Given the description of an element on the screen output the (x, y) to click on. 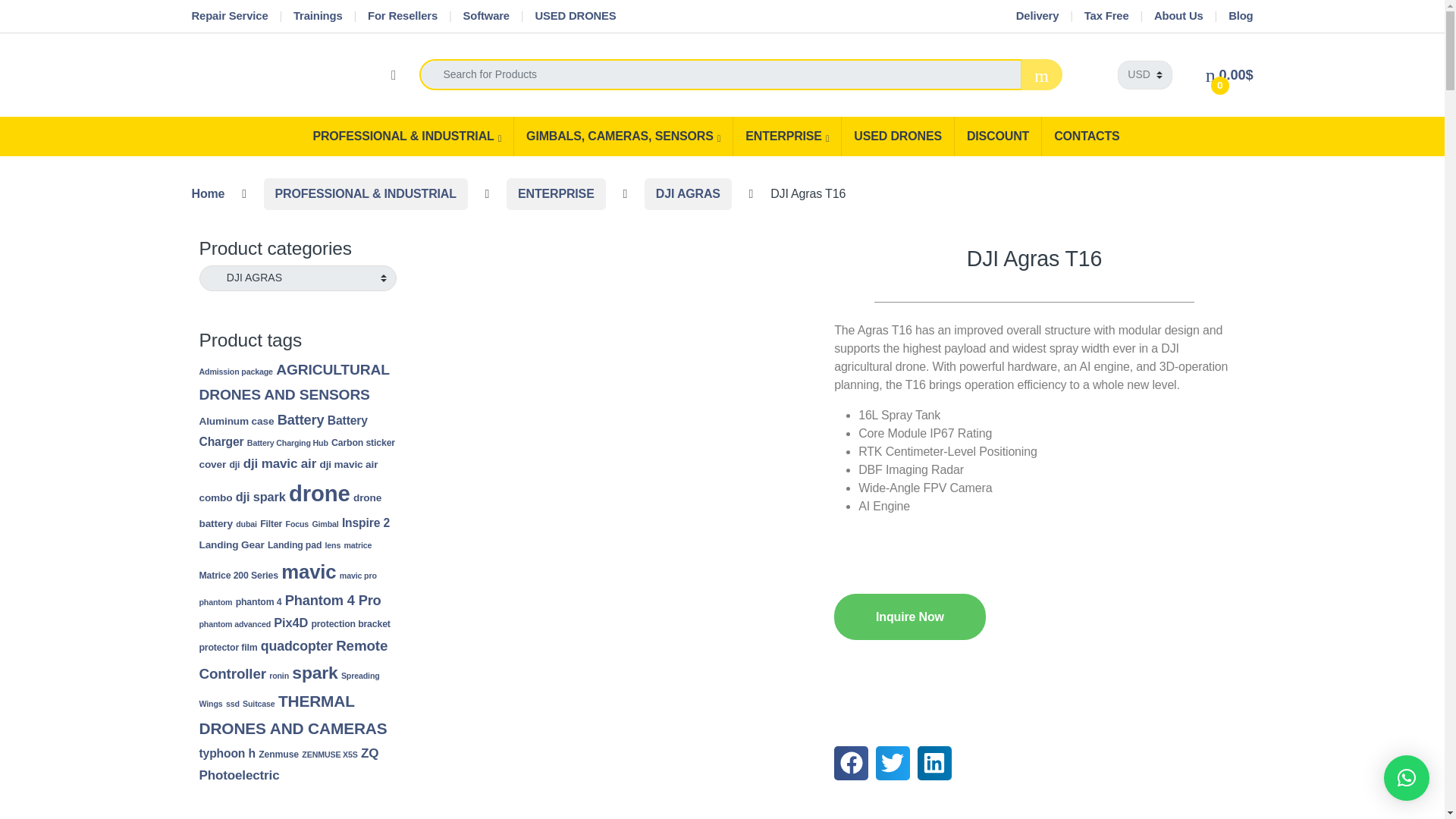
Tax Free (1106, 16)
Delivery (1037, 16)
Repair Service (228, 16)
Software (485, 16)
Trainings (318, 16)
Repair Service (228, 16)
For Resellers (403, 16)
For Resellers (403, 16)
About Us (1179, 16)
Tax Free (1106, 16)
Delivery (1037, 16)
USED DRONES (574, 16)
USED DRONES (574, 16)
Software (485, 16)
Trainings (318, 16)
